Given the description of an element on the screen output the (x, y) to click on. 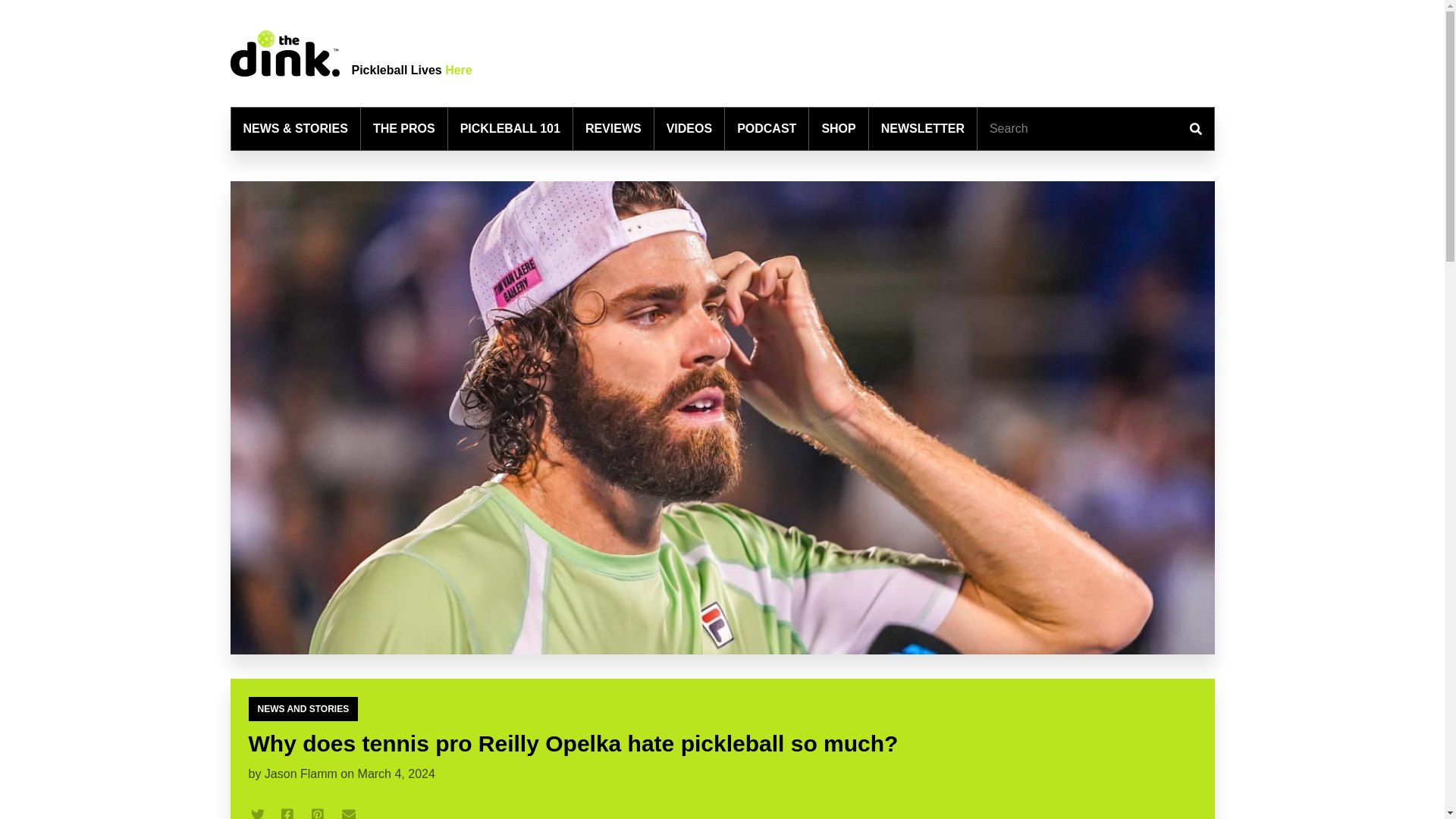
THE PROS (402, 128)
VIDEOS (688, 128)
REVIEWS (612, 128)
Jason Flamm (300, 773)
NEWSLETTER (921, 128)
NEWS AND STORIES (303, 708)
PICKLEBALL 101 (509, 128)
SHOP (837, 128)
PODCAST (765, 128)
